Given the description of an element on the screen output the (x, y) to click on. 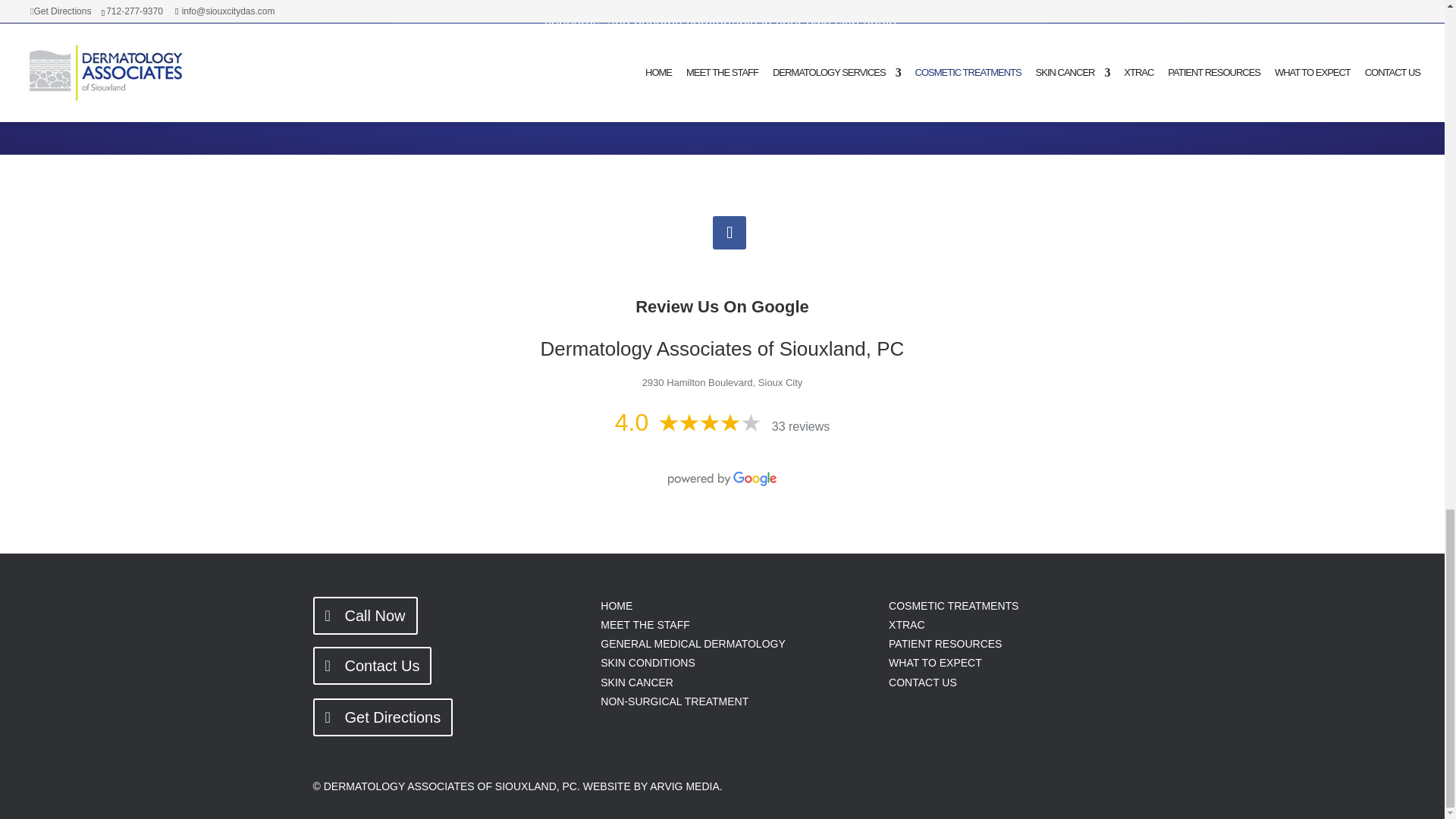
MEET THE STAFF (643, 624)
HOME (615, 605)
33 reviews (800, 426)
Powered by Google (722, 478)
Follow on Facebook (729, 232)
Call Now (364, 615)
Contact Us (722, 71)
GENERAL MEDICAL DERMATOLOGY (692, 644)
Contact Us (371, 665)
Get Directions (382, 717)
SKIN CONDITIONS (646, 662)
